Given the description of an element on the screen output the (x, y) to click on. 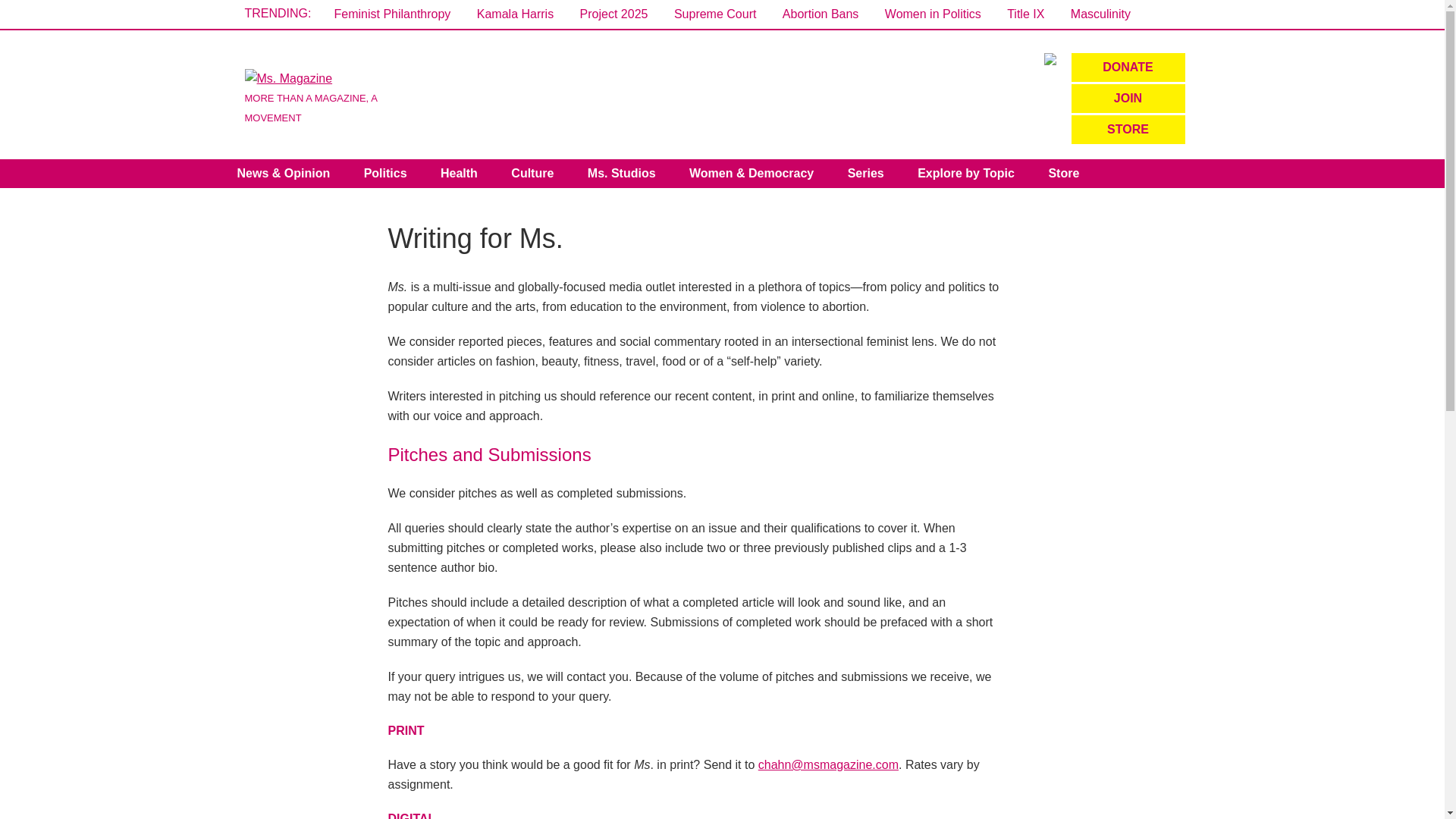
Culture (532, 173)
Feminist Philanthropy (391, 13)
Abortion Bans (821, 13)
Supreme Court (715, 13)
JOIN (1127, 98)
Store (1063, 173)
Series (865, 173)
STORE (1127, 129)
Health (459, 173)
Project 2025 (613, 13)
